Given the description of an element on the screen output the (x, y) to click on. 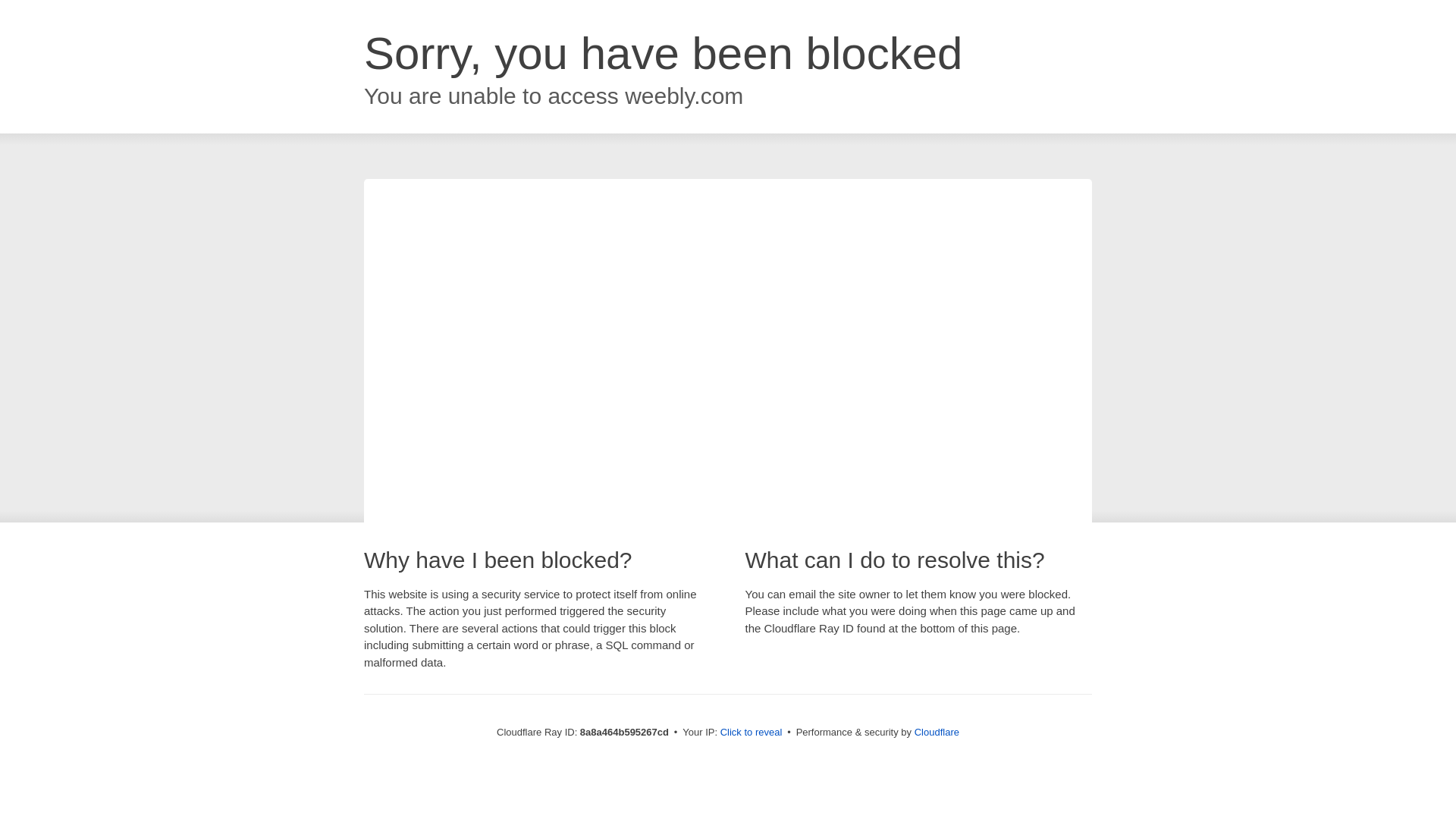
Cloudflare (936, 731)
Click to reveal (751, 732)
